Given the description of an element on the screen output the (x, y) to click on. 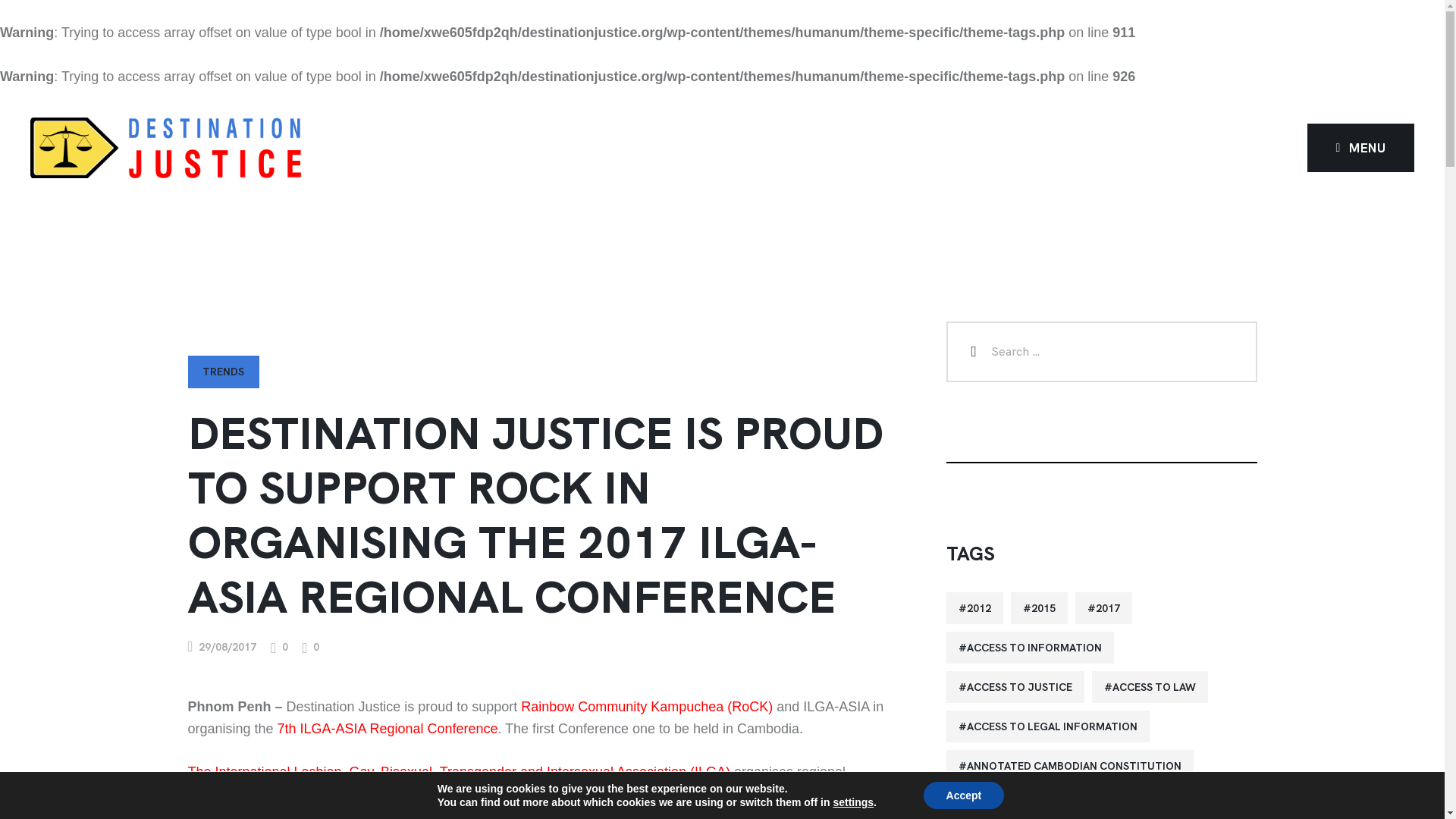
MENU (1361, 147)
Search (971, 351)
TRENDS (223, 371)
0 (279, 647)
7th ILGA-ASIA Regional Conference (386, 728)
0 (311, 647)
Search (971, 351)
